Given the description of an element on the screen output the (x, y) to click on. 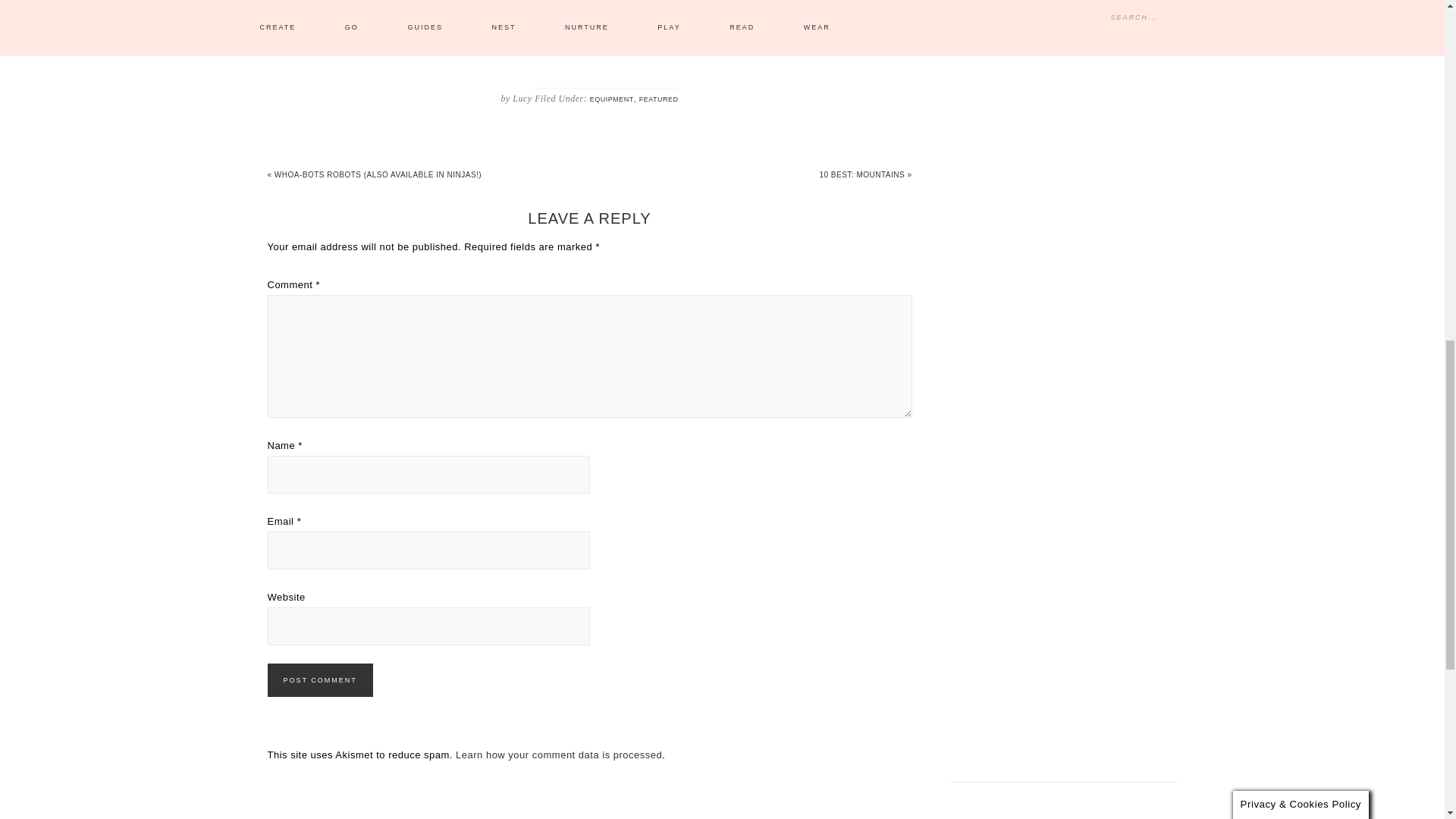
Post Comment (319, 679)
